Given the description of an element on the screen output the (x, y) to click on. 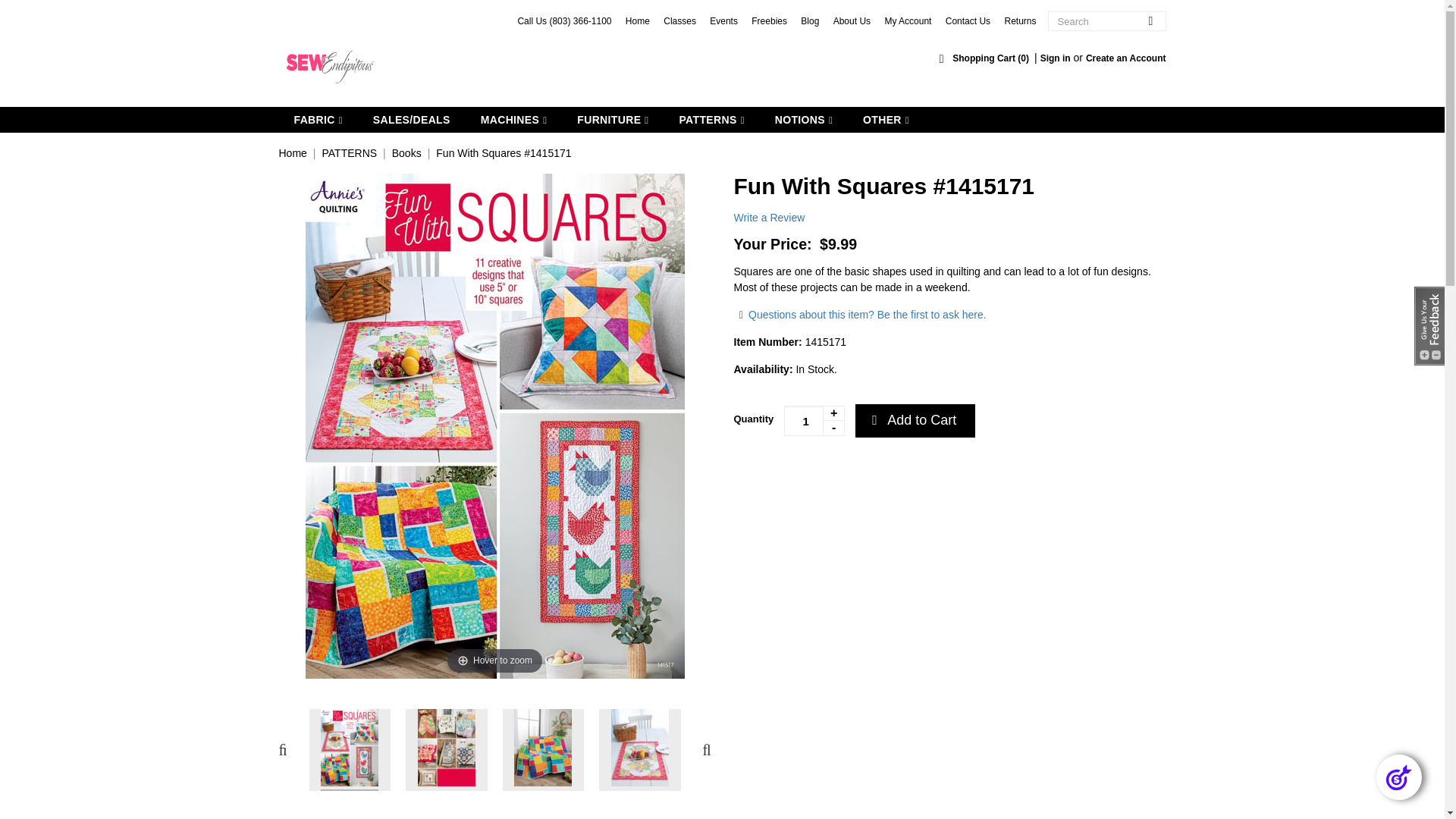
FABRIC (318, 119)
Classes (679, 20)
My Account (907, 20)
Freebies (769, 20)
Events (724, 20)
Create an Account (1126, 58)
Sign in (1055, 58)
About Us (851, 20)
PayPal (828, 477)
Returns (1019, 20)
1 (814, 420)
Blog (809, 20)
